Given the description of an element on the screen output the (x, y) to click on. 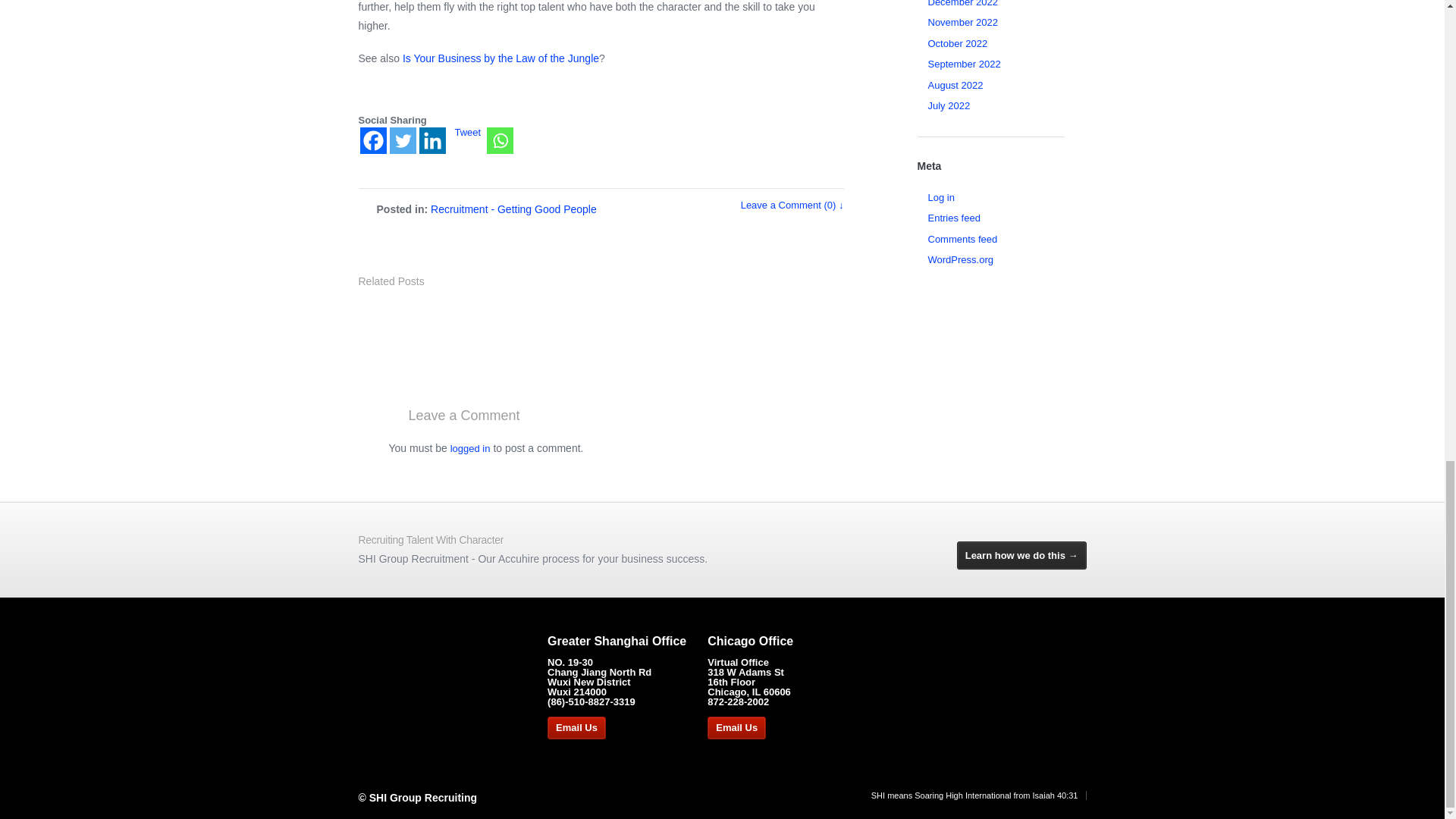
Tweet (467, 132)
Linkedin (432, 140)
Twitter (403, 140)
Facebook (372, 140)
Is Your Business by the Law of the Jungle (500, 58)
Recruitment - Getting Good People (513, 209)
Whatsapp (499, 140)
logged in (469, 448)
